Given the description of an element on the screen output the (x, y) to click on. 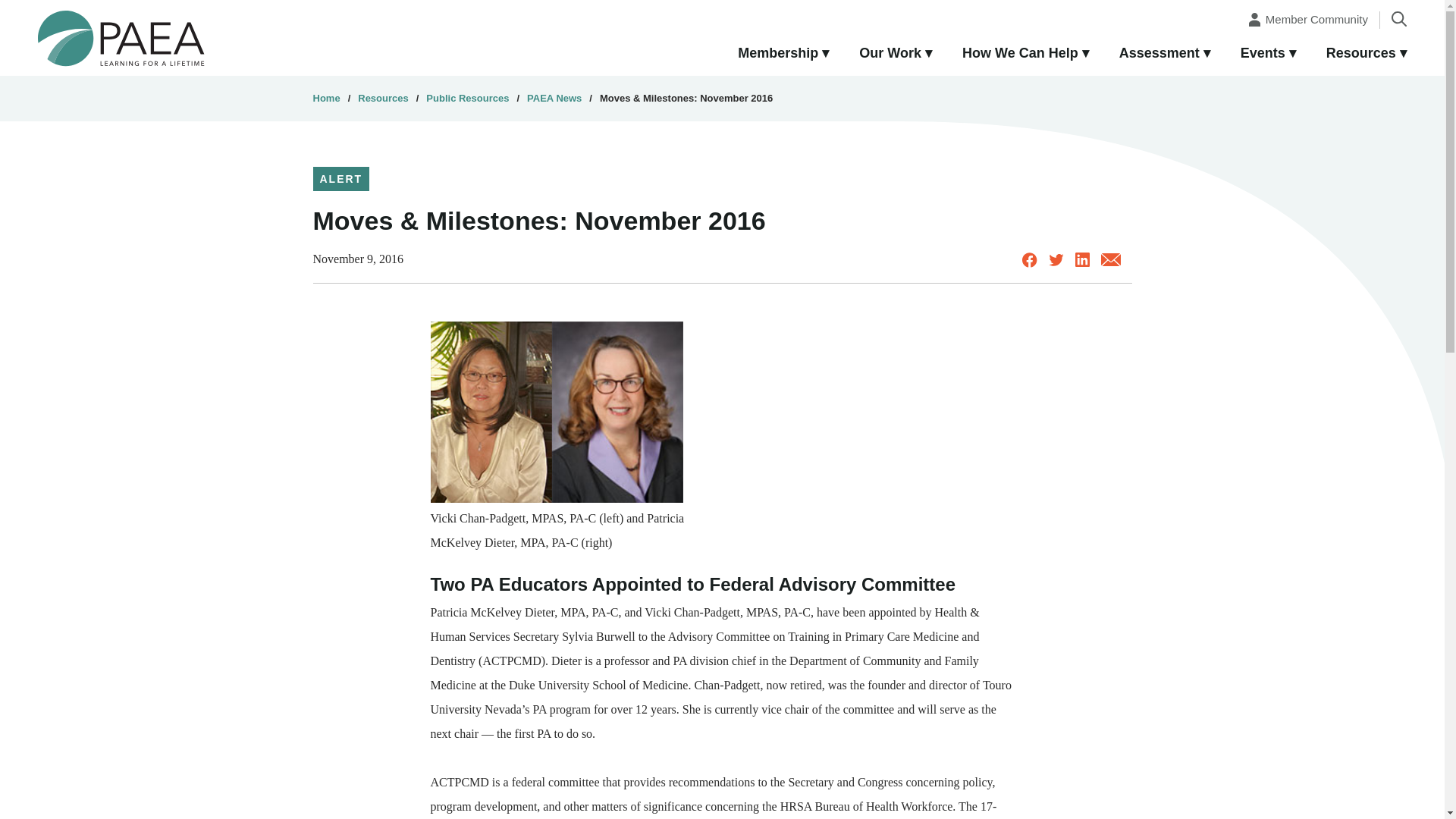
Membership (783, 53)
homepage (121, 37)
Our Work (895, 53)
